Given the description of an element on the screen output the (x, y) to click on. 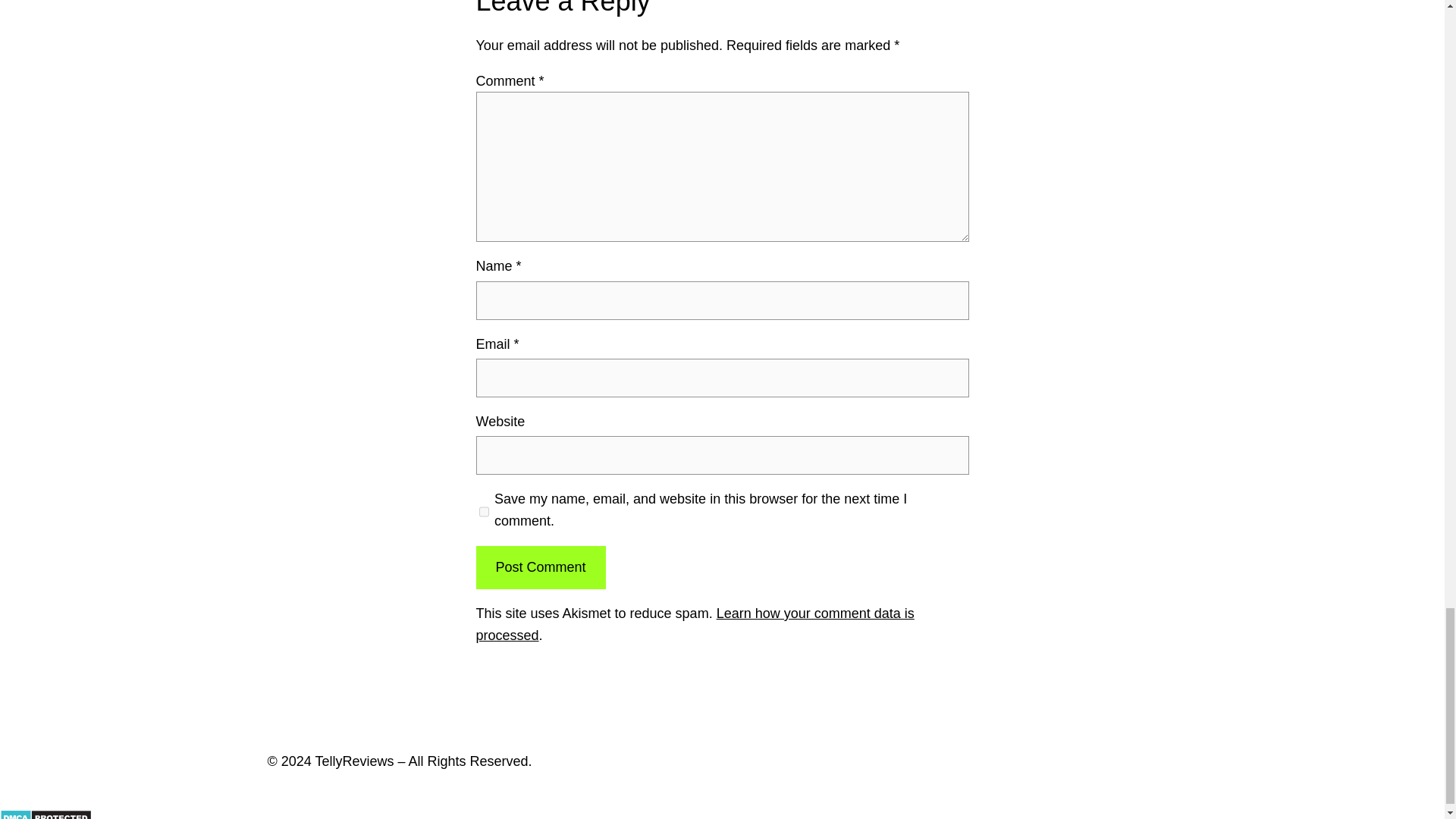
Post Comment (540, 567)
Learn how your comment data is processed (695, 624)
Post Comment (540, 567)
